Given the description of an element on the screen output the (x, y) to click on. 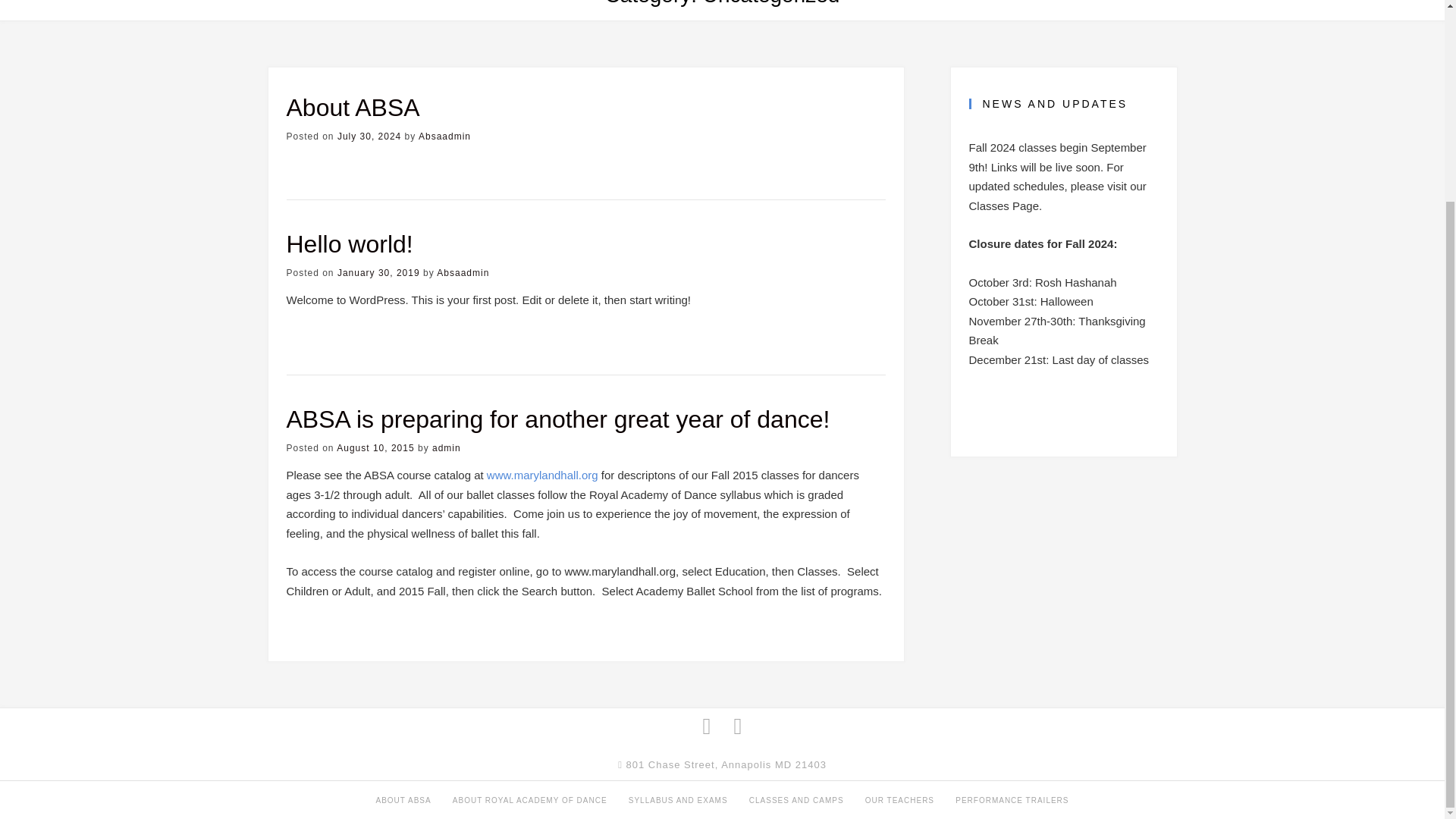
January 30, 2019 (378, 272)
Hello world! (349, 243)
ABOUT ABSA (402, 800)
August 10, 2015 (374, 448)
SYLLABUS AND EXAMS (678, 800)
admin (446, 448)
CLASSES AND CAMPS (796, 800)
About ABSA (353, 107)
PERFORMANCE TRAILERS (1011, 800)
OUR TEACHERS (899, 800)
July 30, 2024 (369, 136)
ABOUT ROYAL ACADEMY OF DANCE (529, 800)
Absaadmin (462, 272)
Absaadmin (444, 136)
ABSA is preparing for another great year of dance! (557, 419)
